Given the description of an element on the screen output the (x, y) to click on. 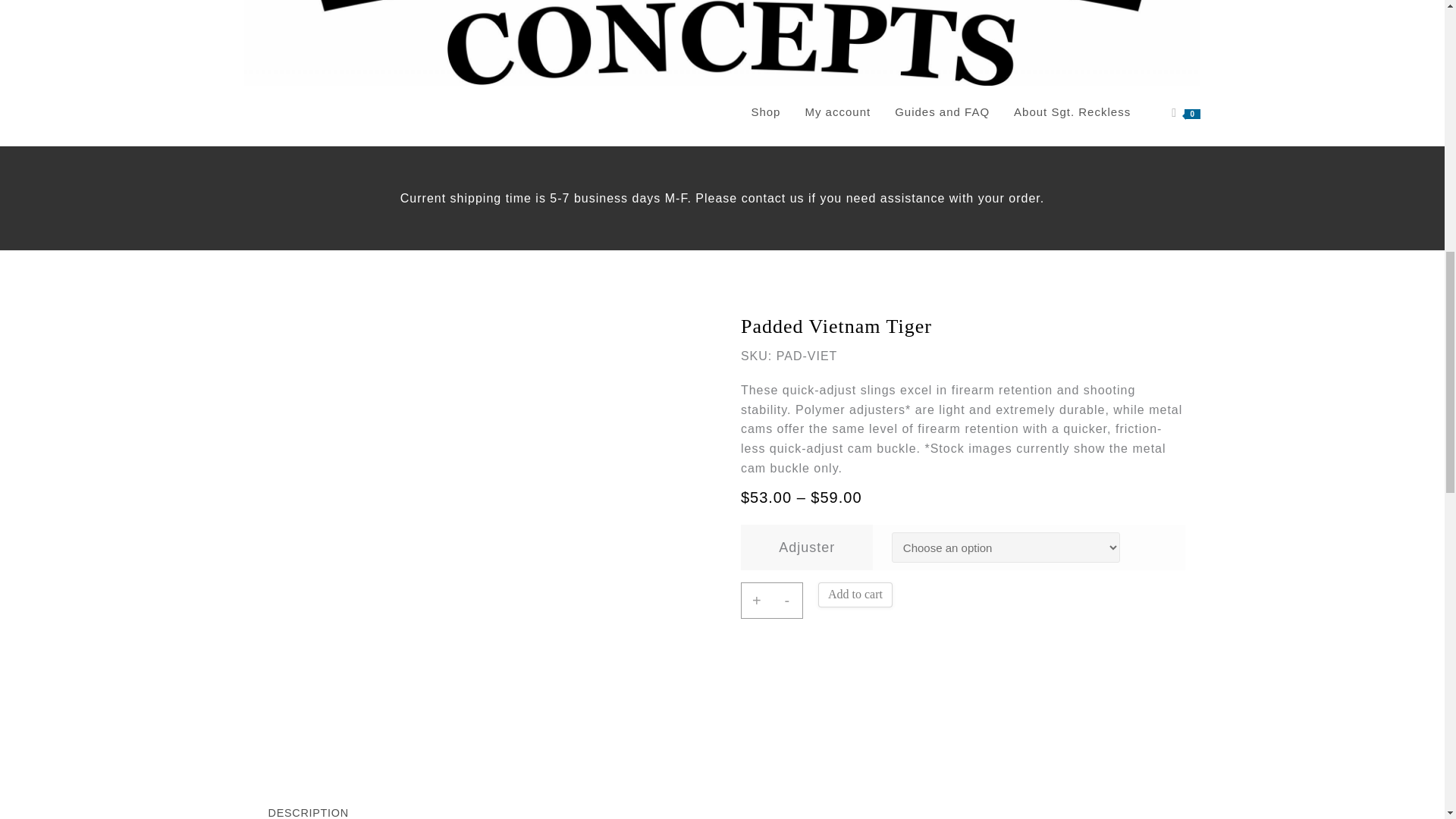
About Sgt. Reckless (1071, 111)
Add to cart (855, 594)
DESCRIPTION (307, 807)
Guides and FAQ (941, 111)
My account (837, 111)
0 (1185, 112)
Shop (765, 111)
